Given the description of an element on the screen output the (x, y) to click on. 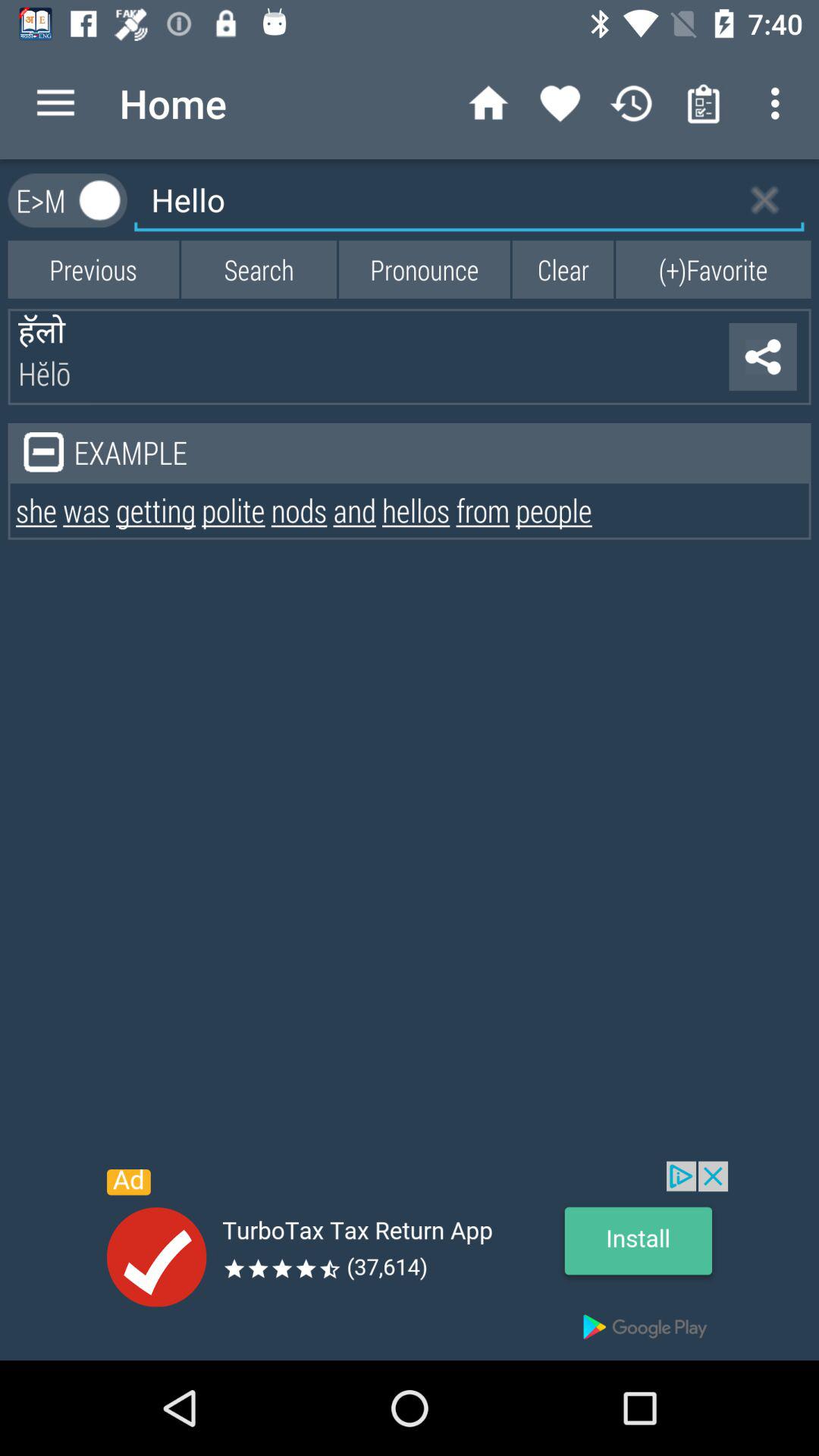
go to advertised site (409, 1260)
